Given the description of an element on the screen output the (x, y) to click on. 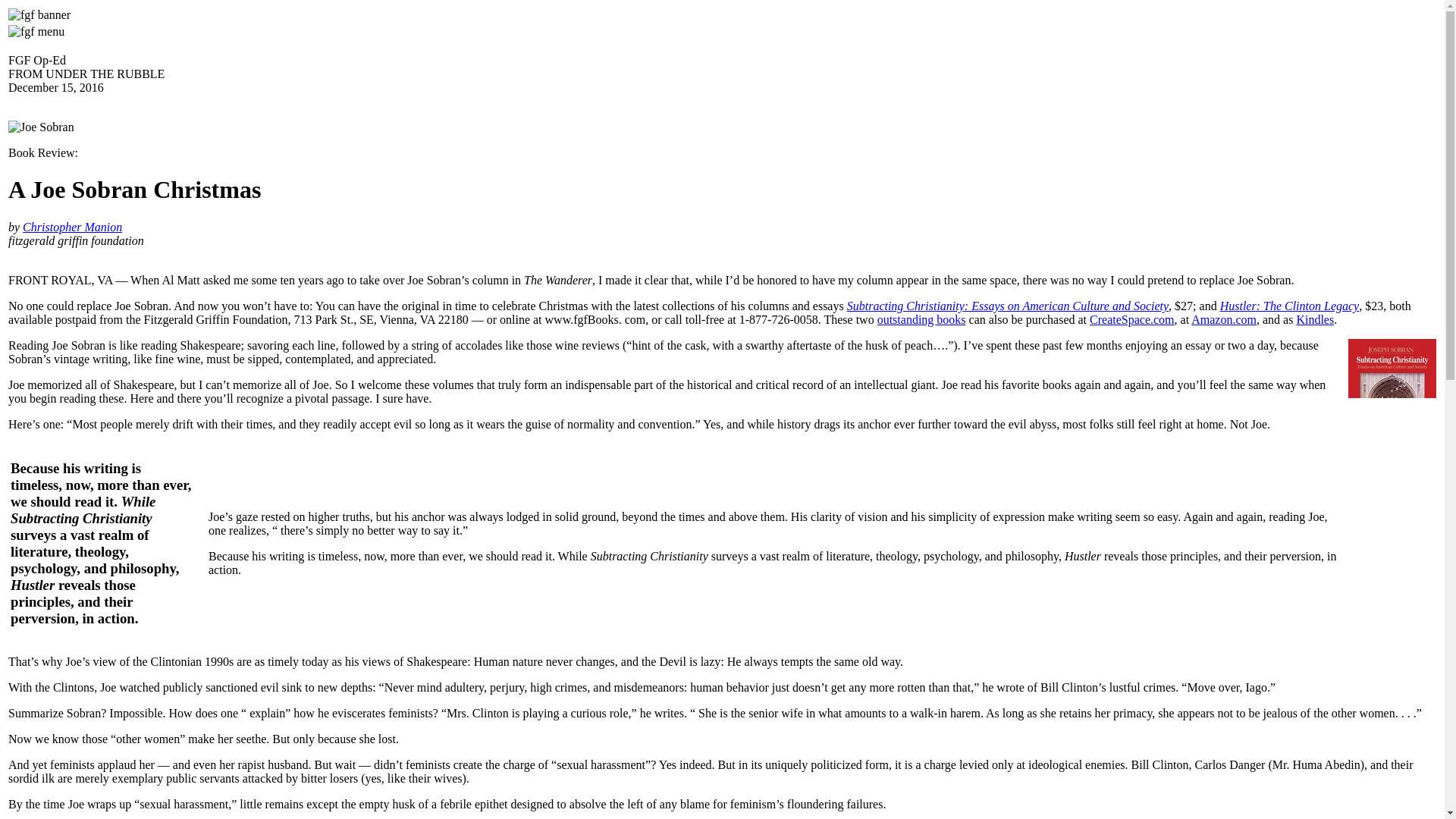
outstanding books (921, 318)
Kindles (1314, 318)
Christopher Manion (72, 226)
Hustler: The Clinton Legacy (1289, 305)
CreateSpace.com (1131, 318)
Amazon.com (1223, 318)
